Given the description of an element on the screen output the (x, y) to click on. 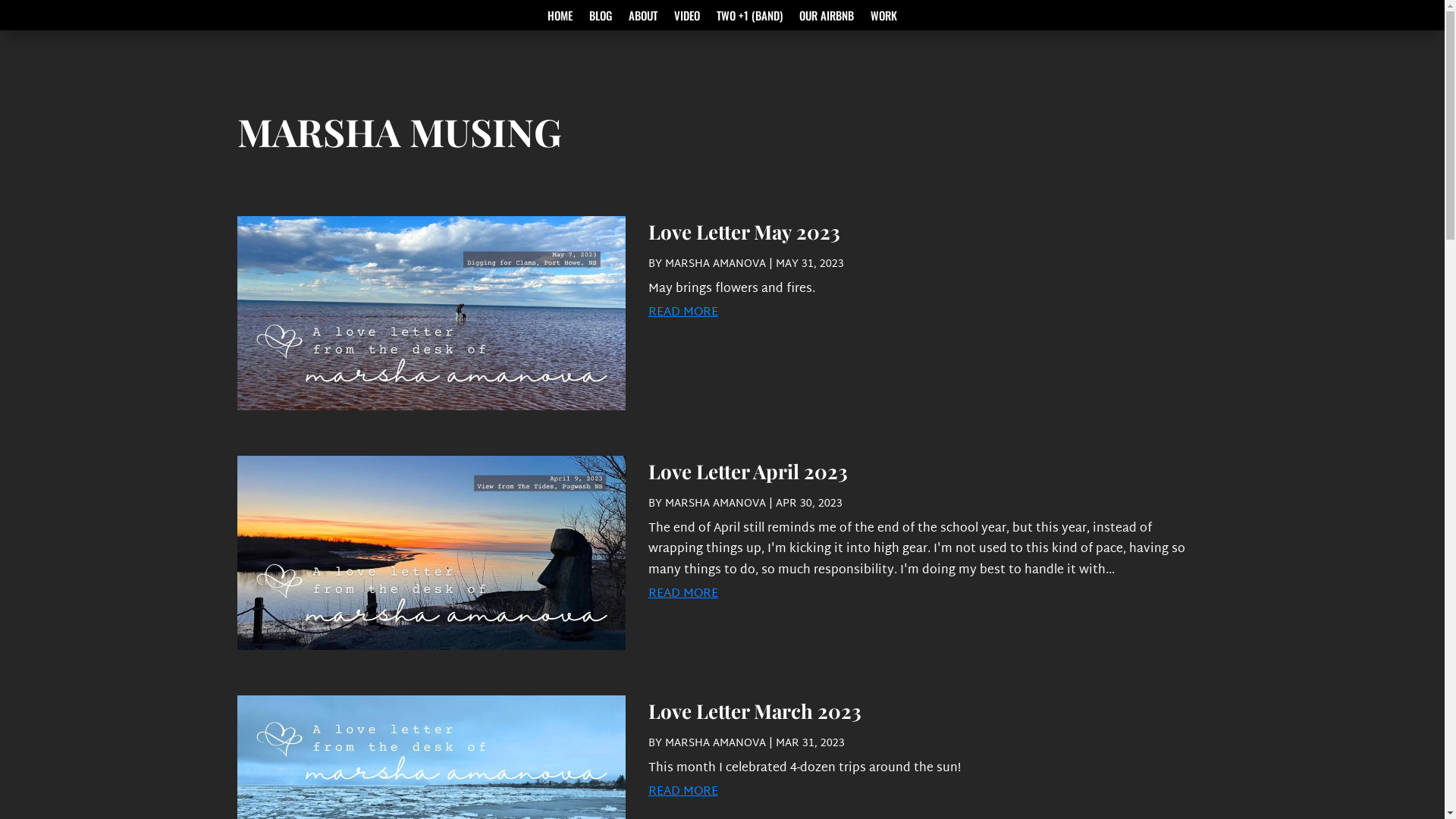
HOME Element type: text (559, 17)
MARSHA AMANOVA Element type: text (714, 263)
READ MORE Element type: text (927, 313)
READ MORE Element type: text (927, 594)
WORK Element type: text (883, 17)
READ MORE Element type: text (927, 792)
MARSHA AMANOVA Element type: text (714, 743)
BLOG Element type: text (600, 17)
VIDEO Element type: text (686, 17)
TWO +1 (BAND) Element type: text (749, 17)
Love Letter May 2023 Element type: text (743, 231)
MARSHA AMANOVA Element type: text (714, 503)
Love Letter April 2023 Element type: text (747, 471)
Love Letter March 2023 Element type: text (753, 710)
OUR AIRBNB Element type: text (826, 17)
ABOUT Element type: text (642, 17)
